Given the description of an element on the screen output the (x, y) to click on. 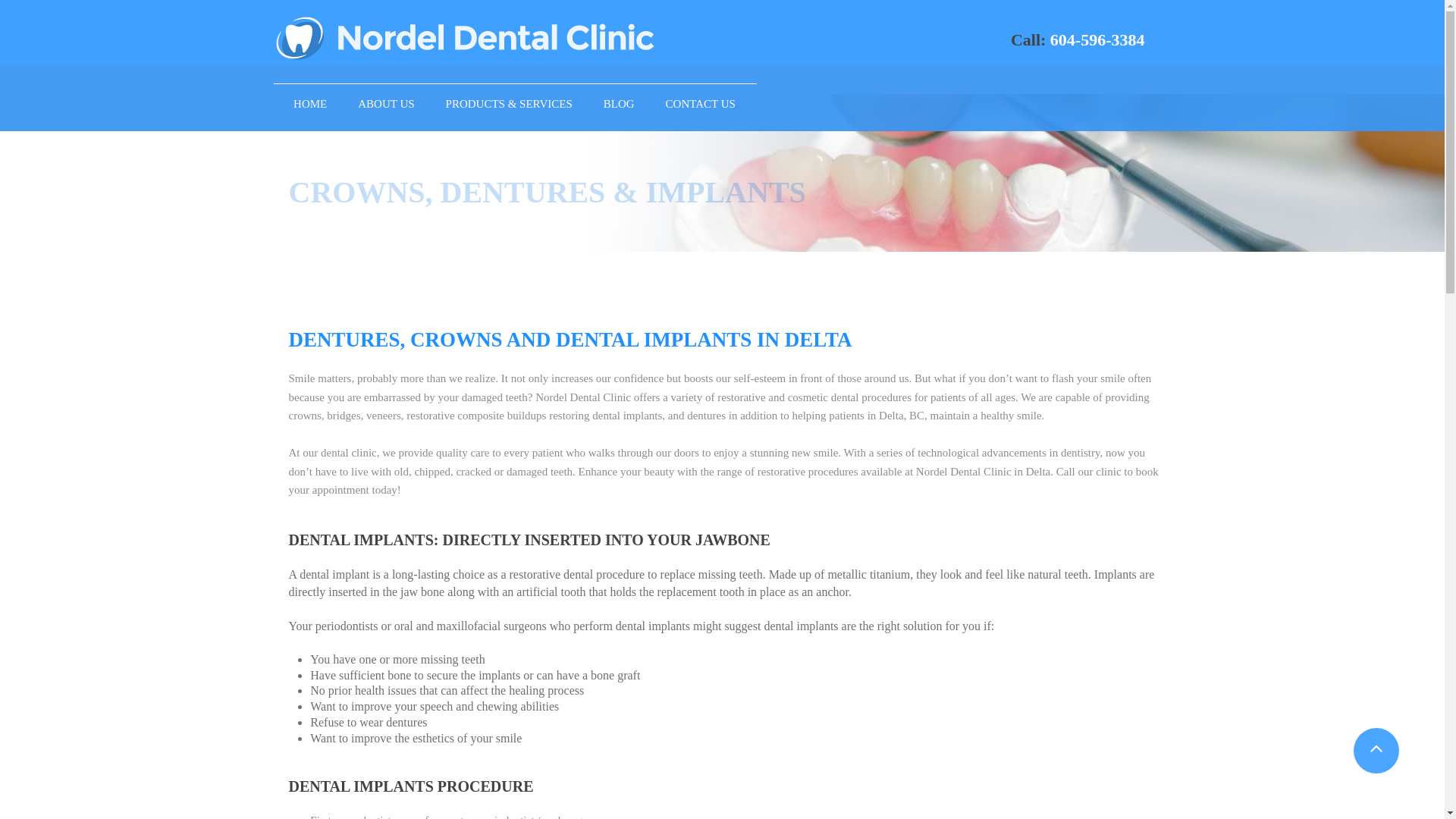
ABOUT US (385, 104)
CONTACT US (700, 104)
604-596-3384 (1096, 39)
HOME (310, 104)
BLOG (619, 104)
